Given the description of an element on the screen output the (x, y) to click on. 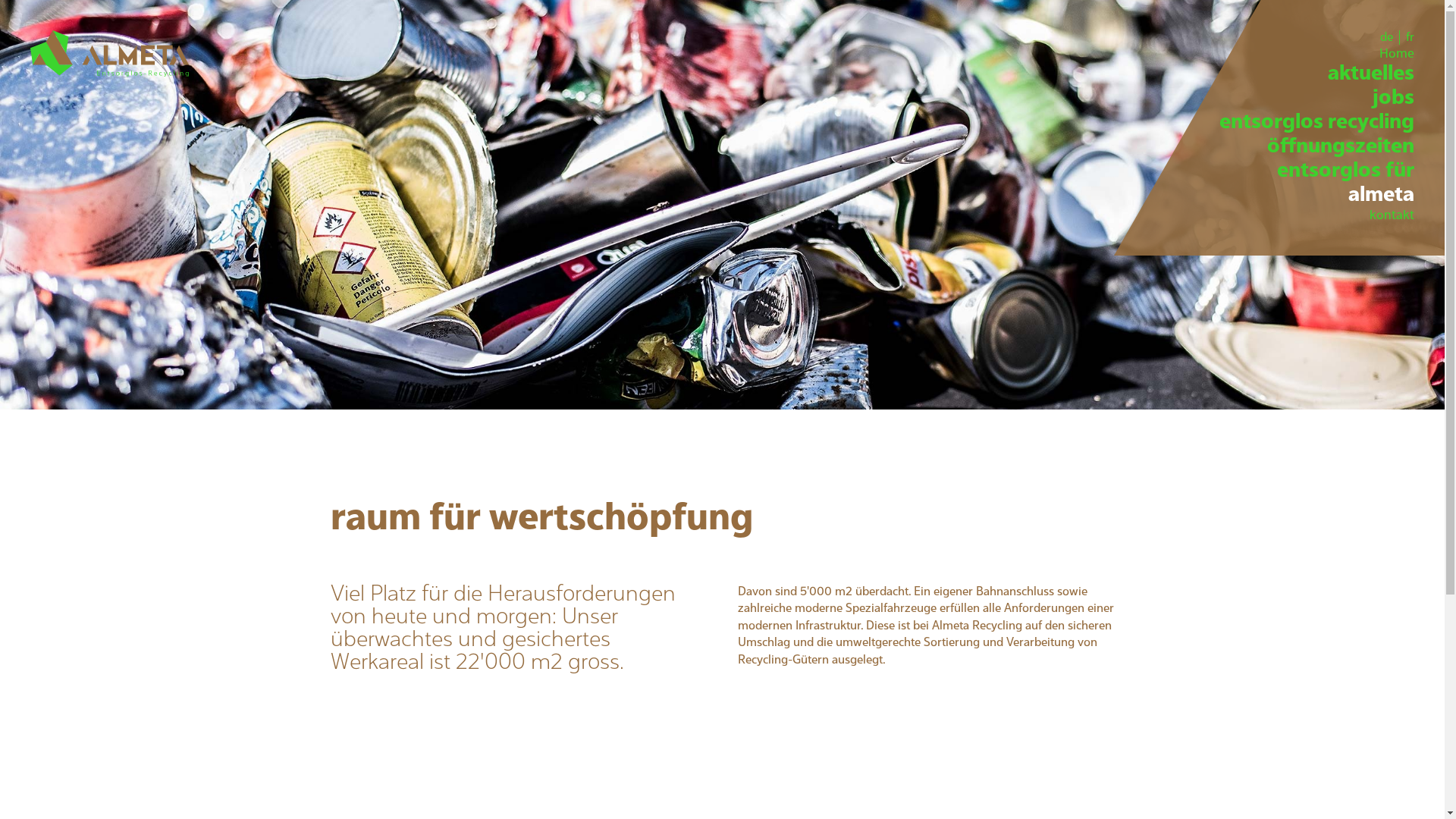
jobs Element type: text (1316, 98)
almeta.ch Element type: hover (109, 53)
de Element type: text (1386, 37)
kontakt Element type: text (1316, 215)
Home Element type: text (1316, 53)
aktuelles Element type: text (1316, 73)
fr Element type: text (1406, 37)
